Given the description of an element on the screen output the (x, y) to click on. 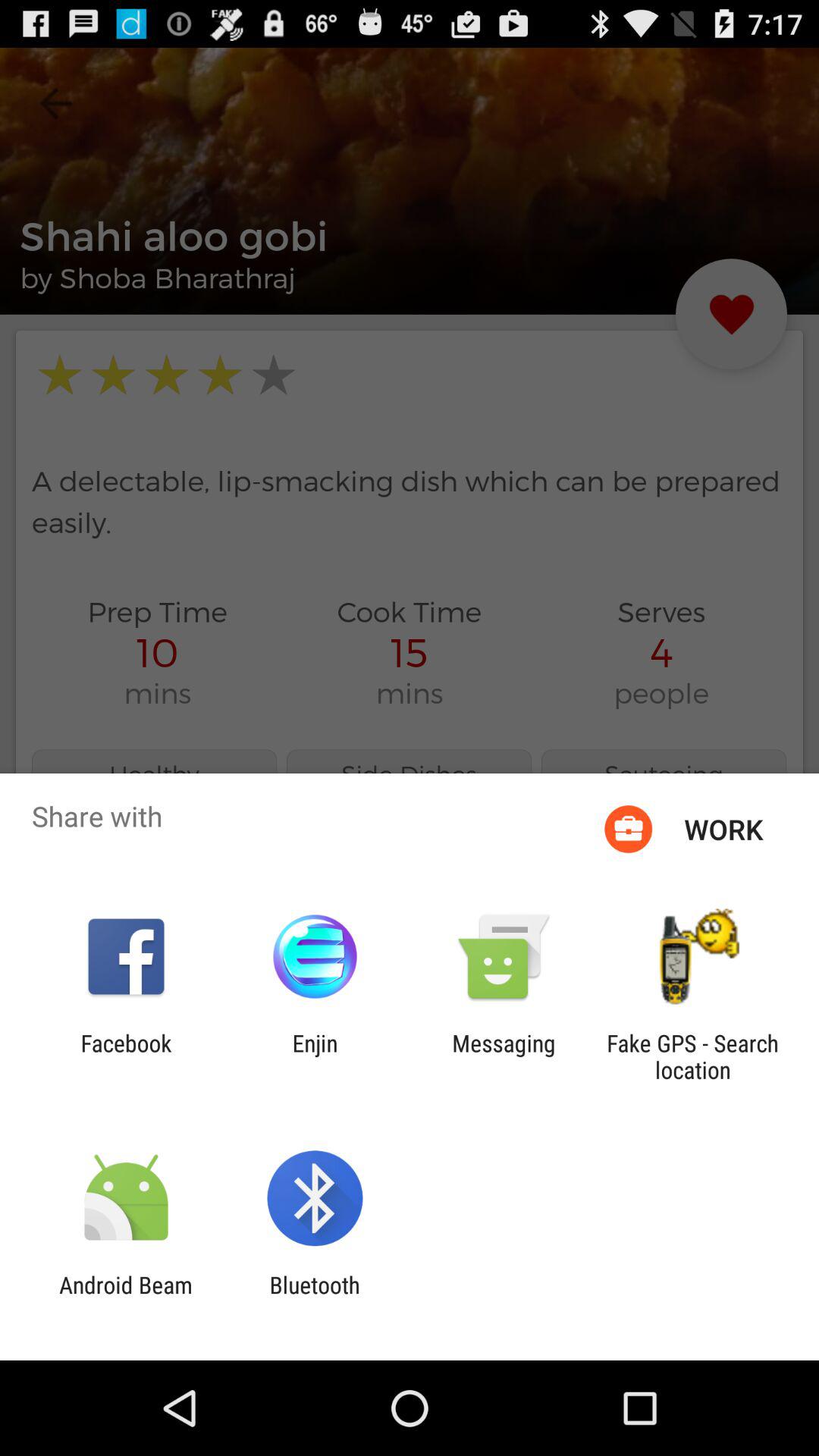
click the item to the left of fake gps search icon (503, 1056)
